Given the description of an element on the screen output the (x, y) to click on. 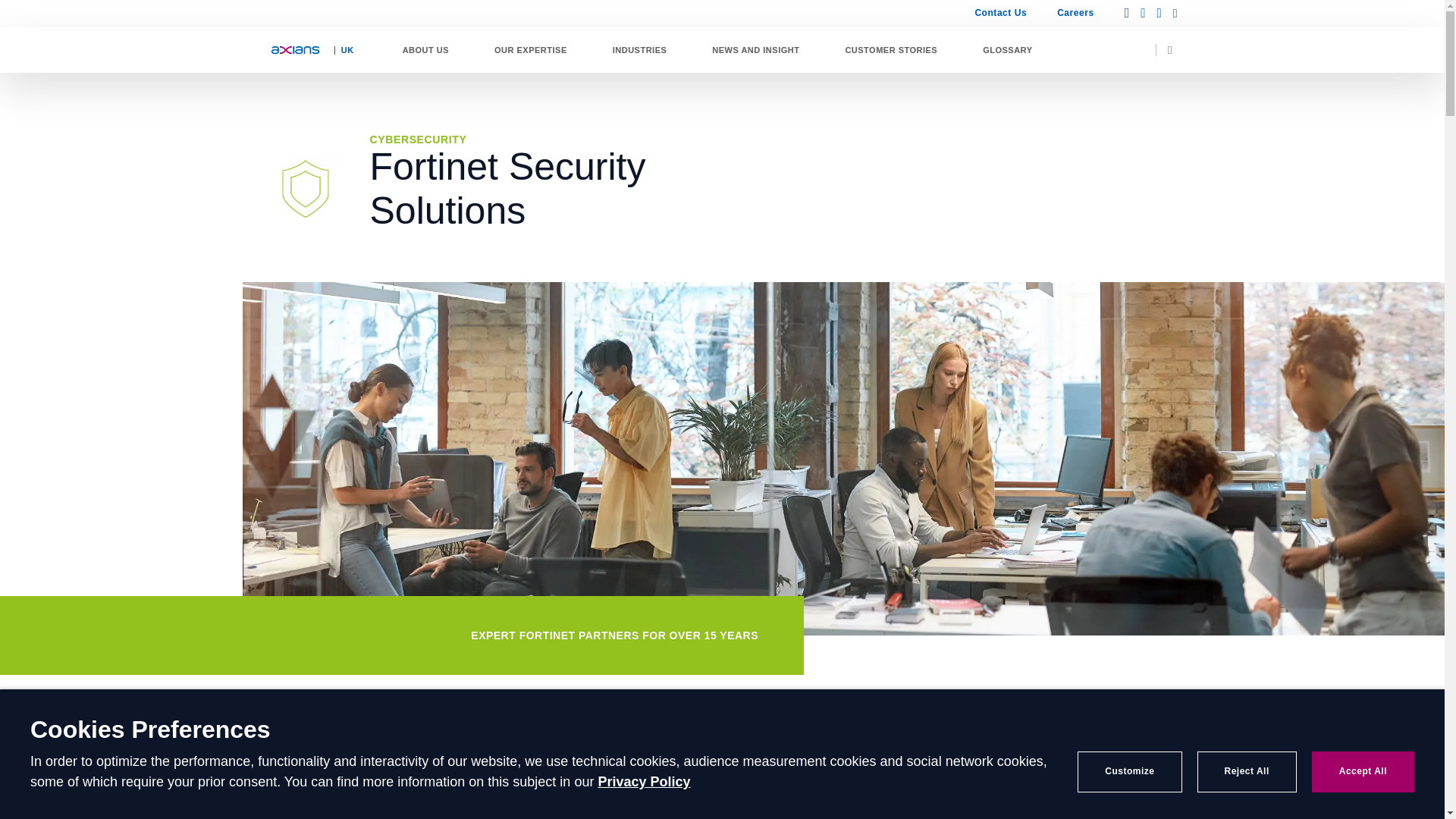
Careers (1067, 13)
Contact Us (1000, 13)
OUR EXPERTISE (530, 49)
ABOUT US (425, 49)
